Given the description of an element on the screen output the (x, y) to click on. 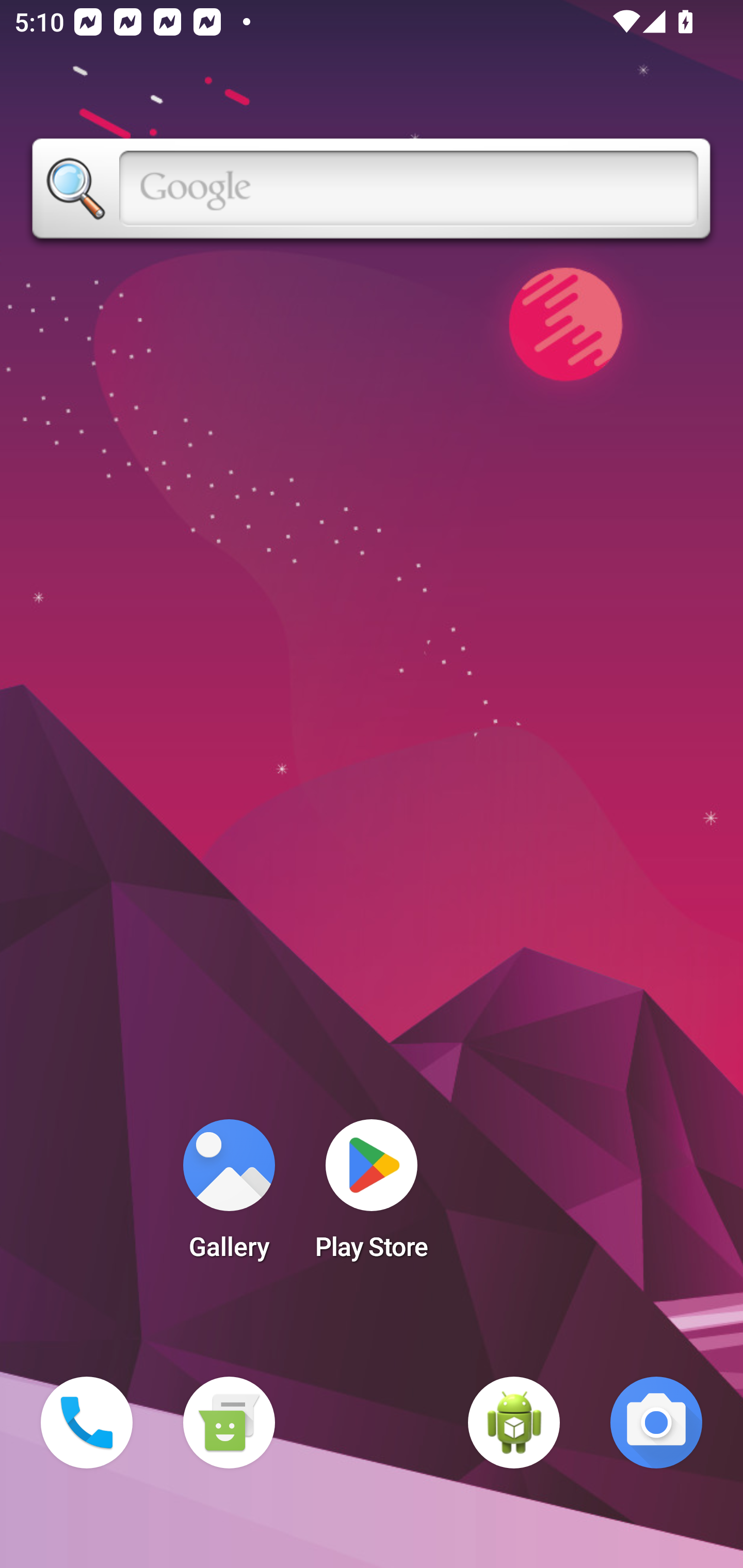
Gallery (228, 1195)
Play Store (371, 1195)
Phone (86, 1422)
Messaging (228, 1422)
WebView Browser Tester (513, 1422)
Camera (656, 1422)
